Given the description of an element on the screen output the (x, y) to click on. 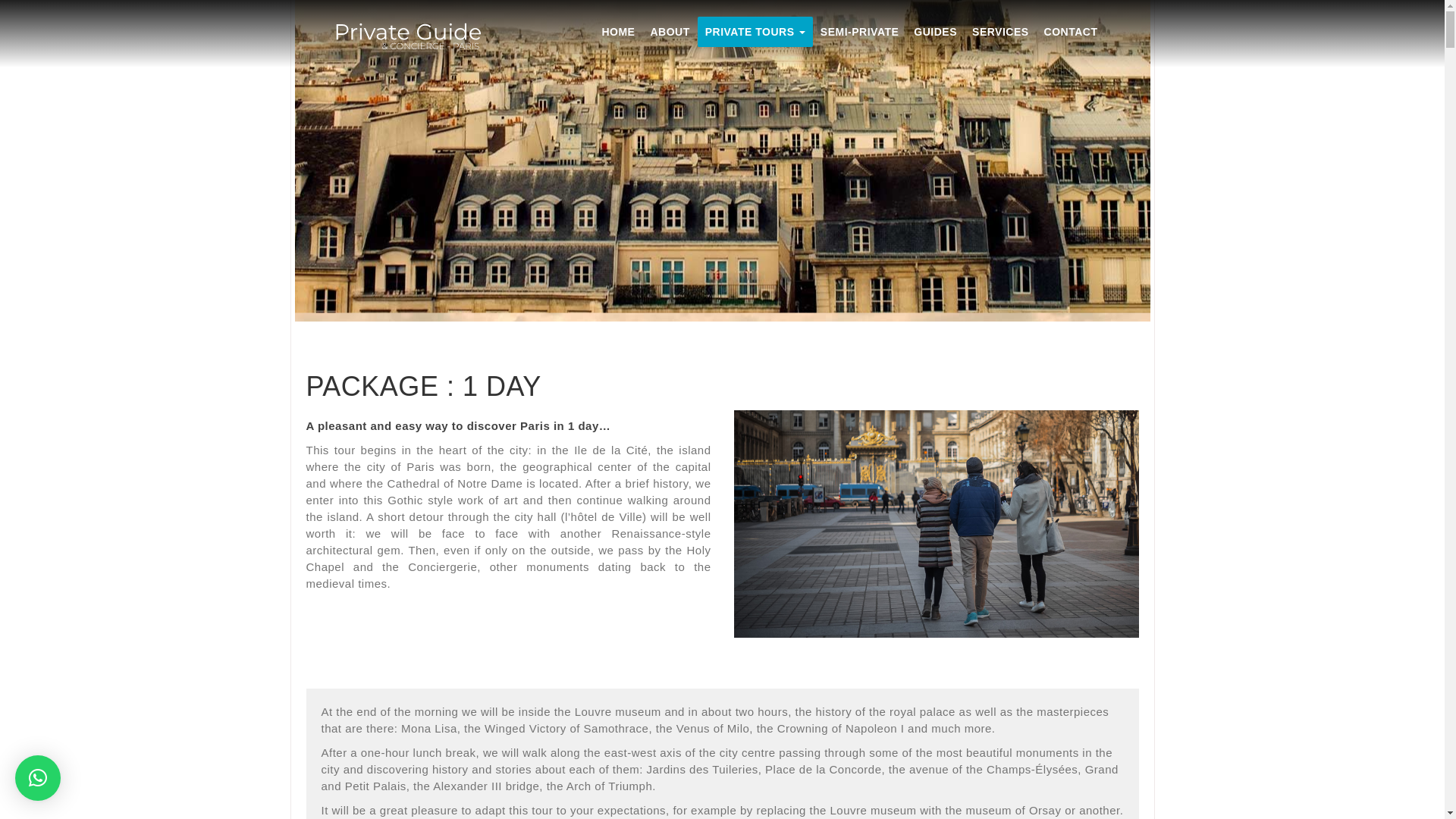
PRIVATE TOURS (754, 31)
CONTACT (1070, 31)
SEMI-PRIVATE (859, 31)
HOME (618, 31)
GUIDES (934, 31)
ABOUT (669, 31)
SERVICES (999, 31)
